Given the description of an element on the screen output the (x, y) to click on. 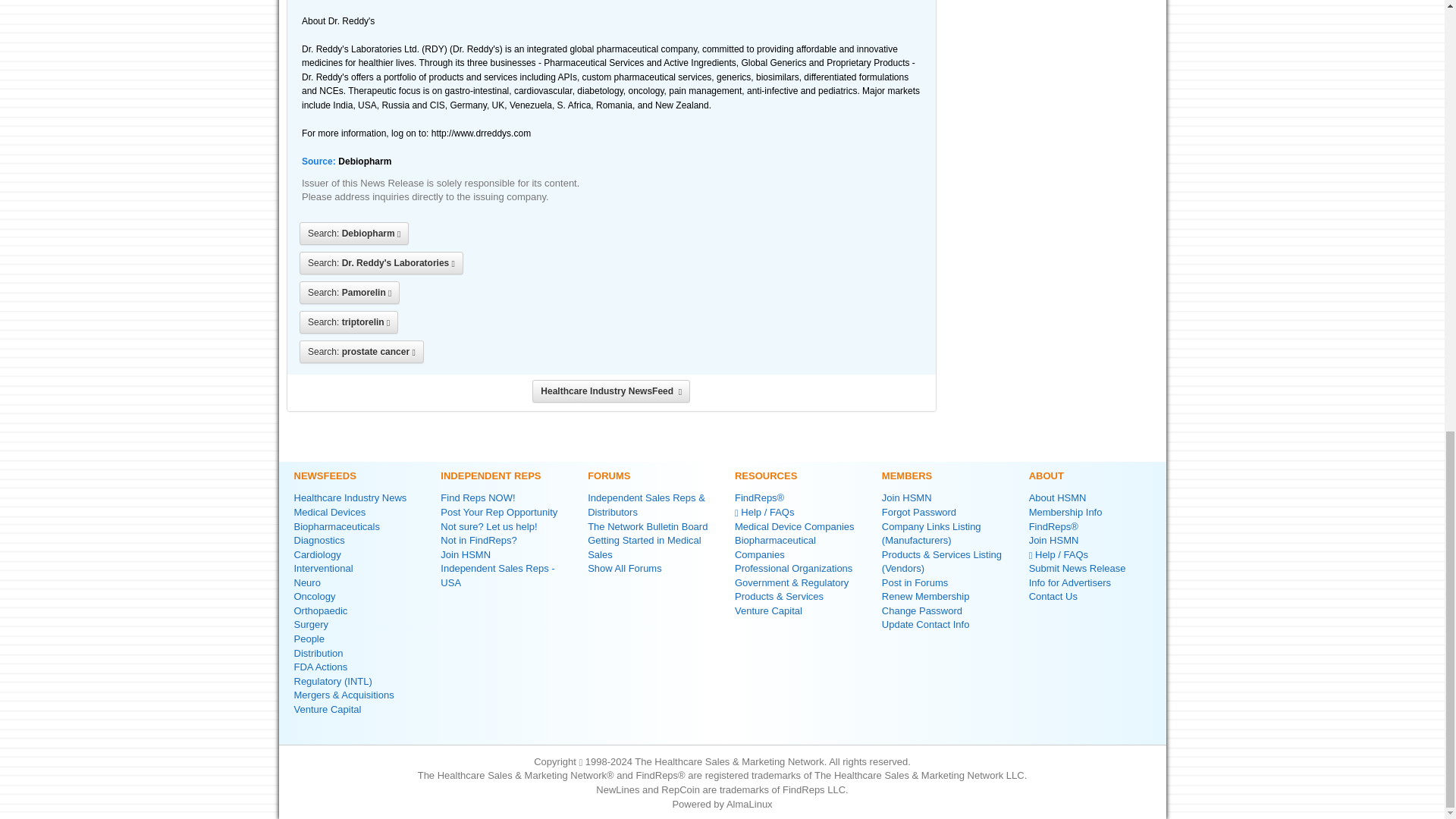
Advertisement (1054, 38)
